Given the description of an element on the screen output the (x, y) to click on. 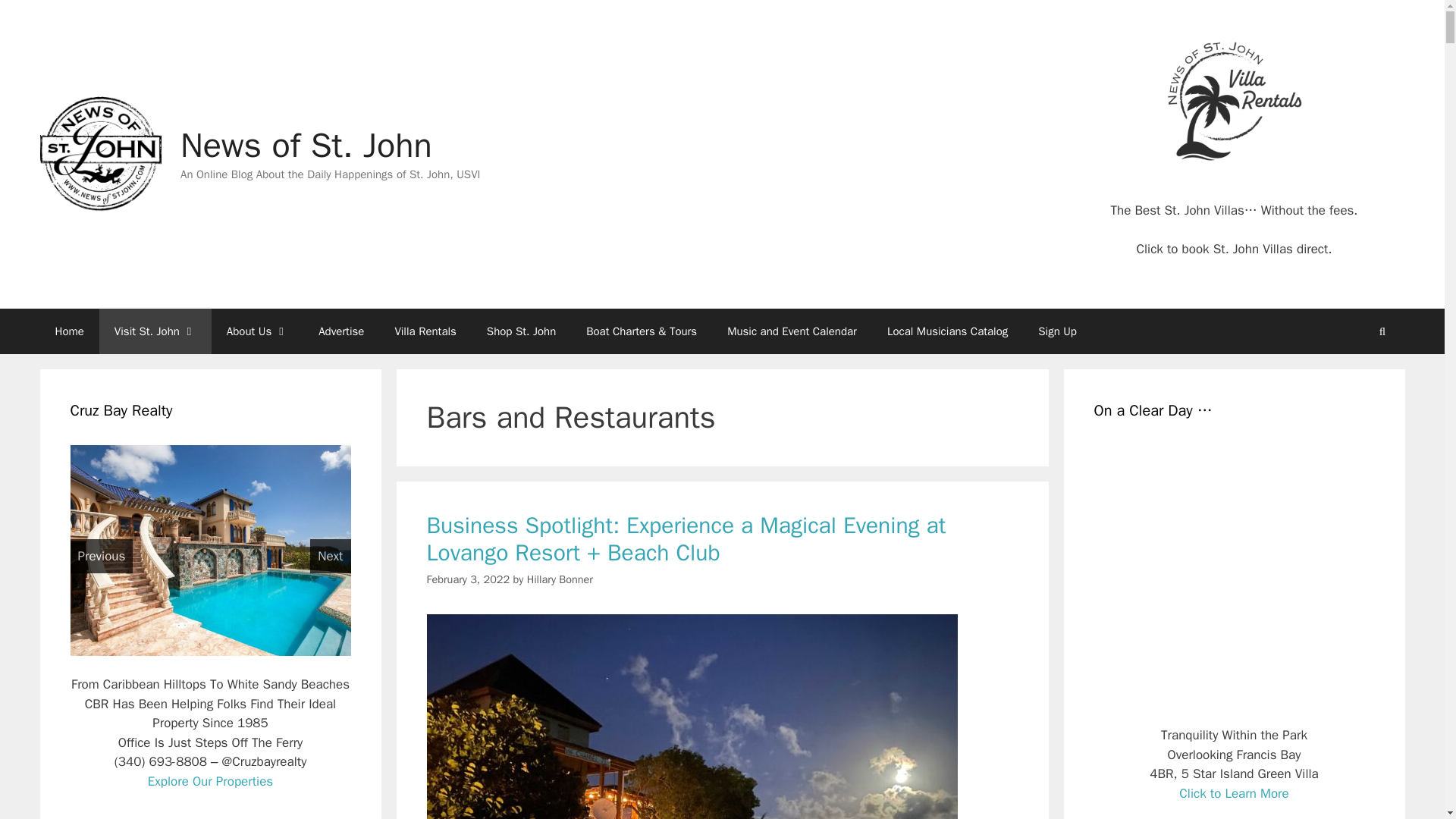
Visit St. John (155, 330)
News of St. John (306, 145)
News of St. John (99, 154)
Villa Rentals (424, 330)
February 3, 2022 (467, 579)
About Us (256, 330)
5:14 am (467, 579)
Search (1382, 330)
Home (69, 330)
Local Musicians Catalog (947, 330)
